Given the description of an element on the screen output the (x, y) to click on. 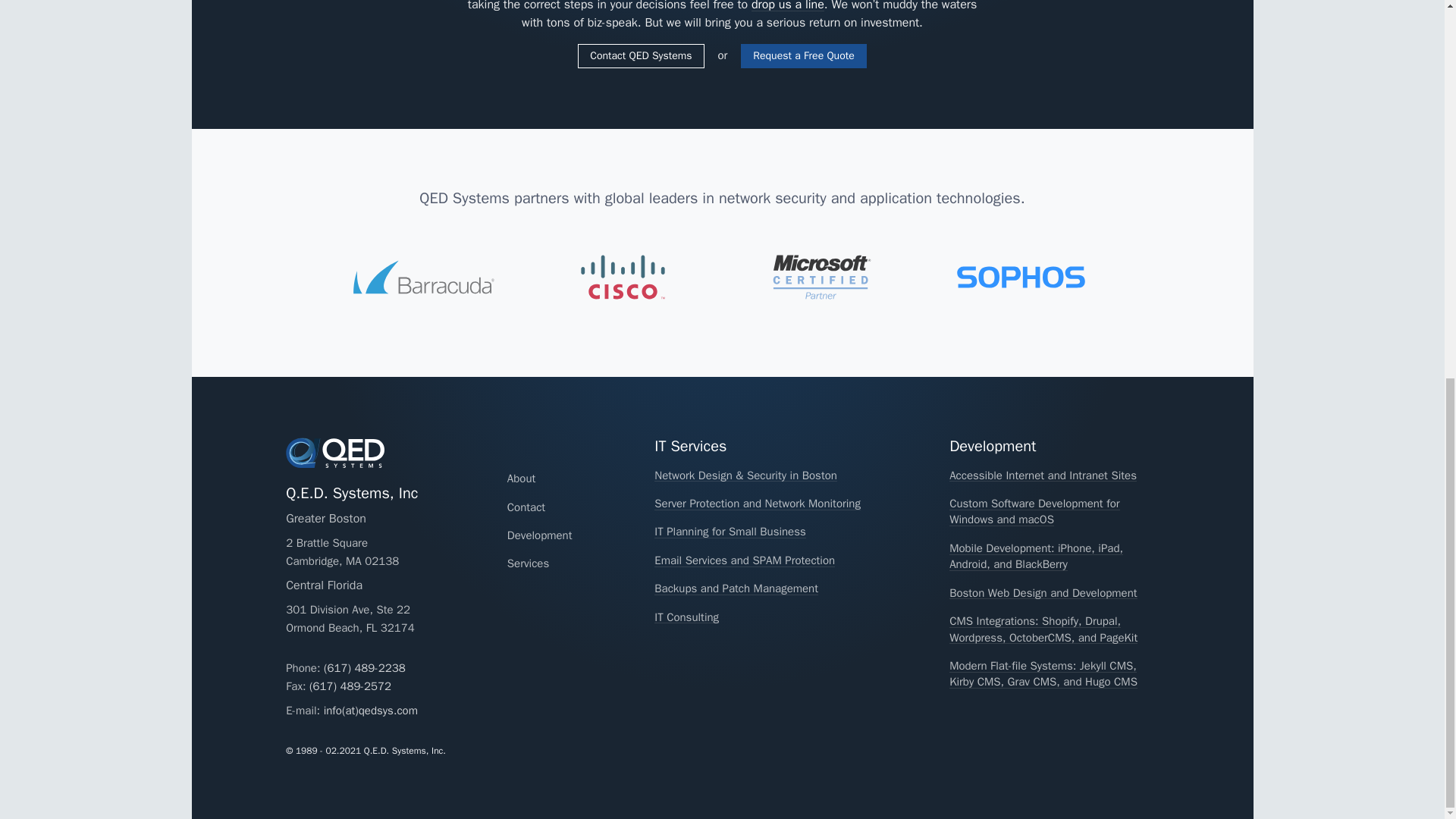
drop us a line (787, 6)
Request a Free Quote (803, 55)
Contact QED Systems (640, 55)
